Given the description of an element on the screen output the (x, y) to click on. 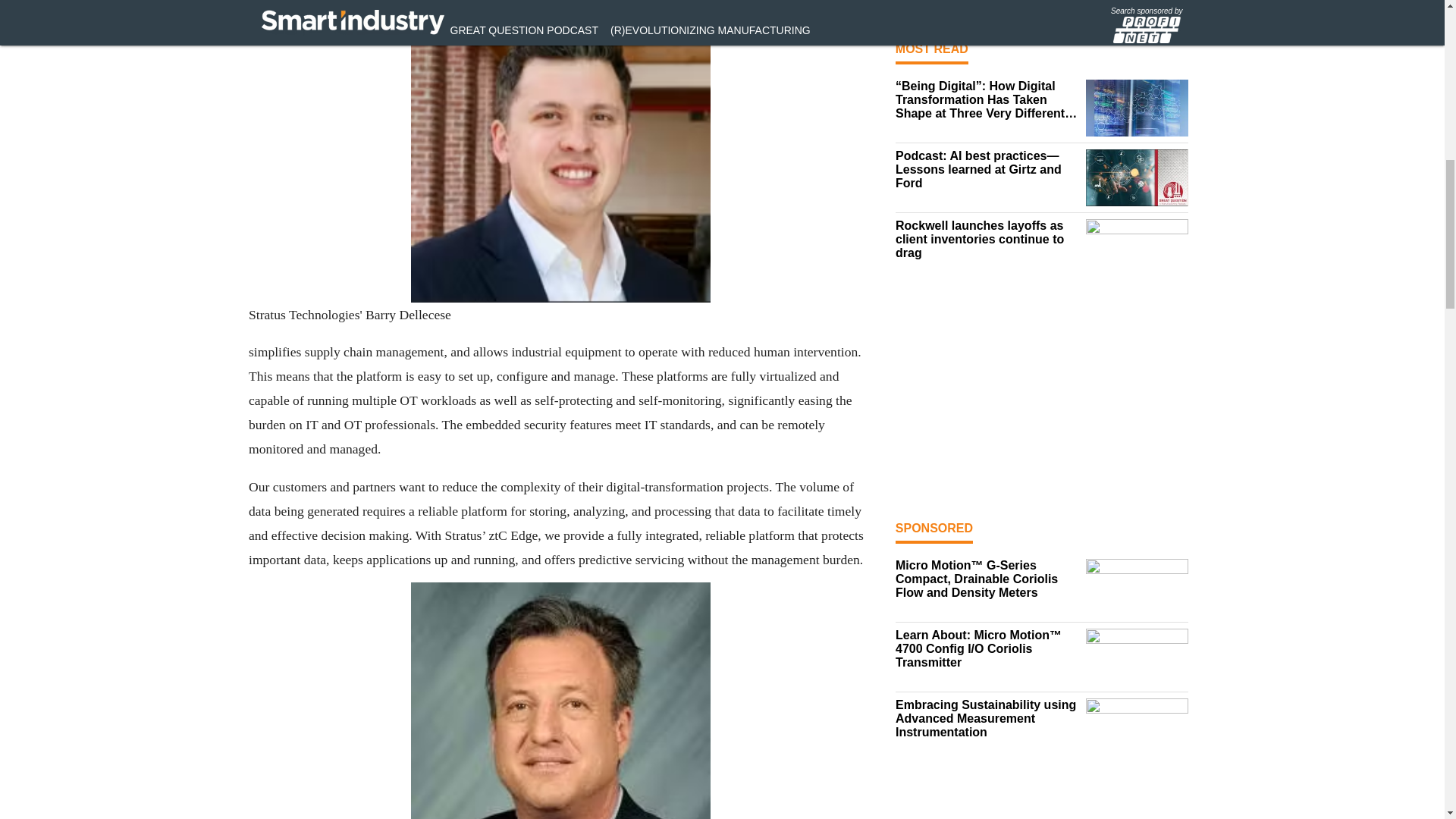
Barry-Dellecese (560, 152)
cresnick-414x472 (560, 700)
How to prevent manufacturing fraud using anomaly detection (986, 2)
